Given the description of an element on the screen output the (x, y) to click on. 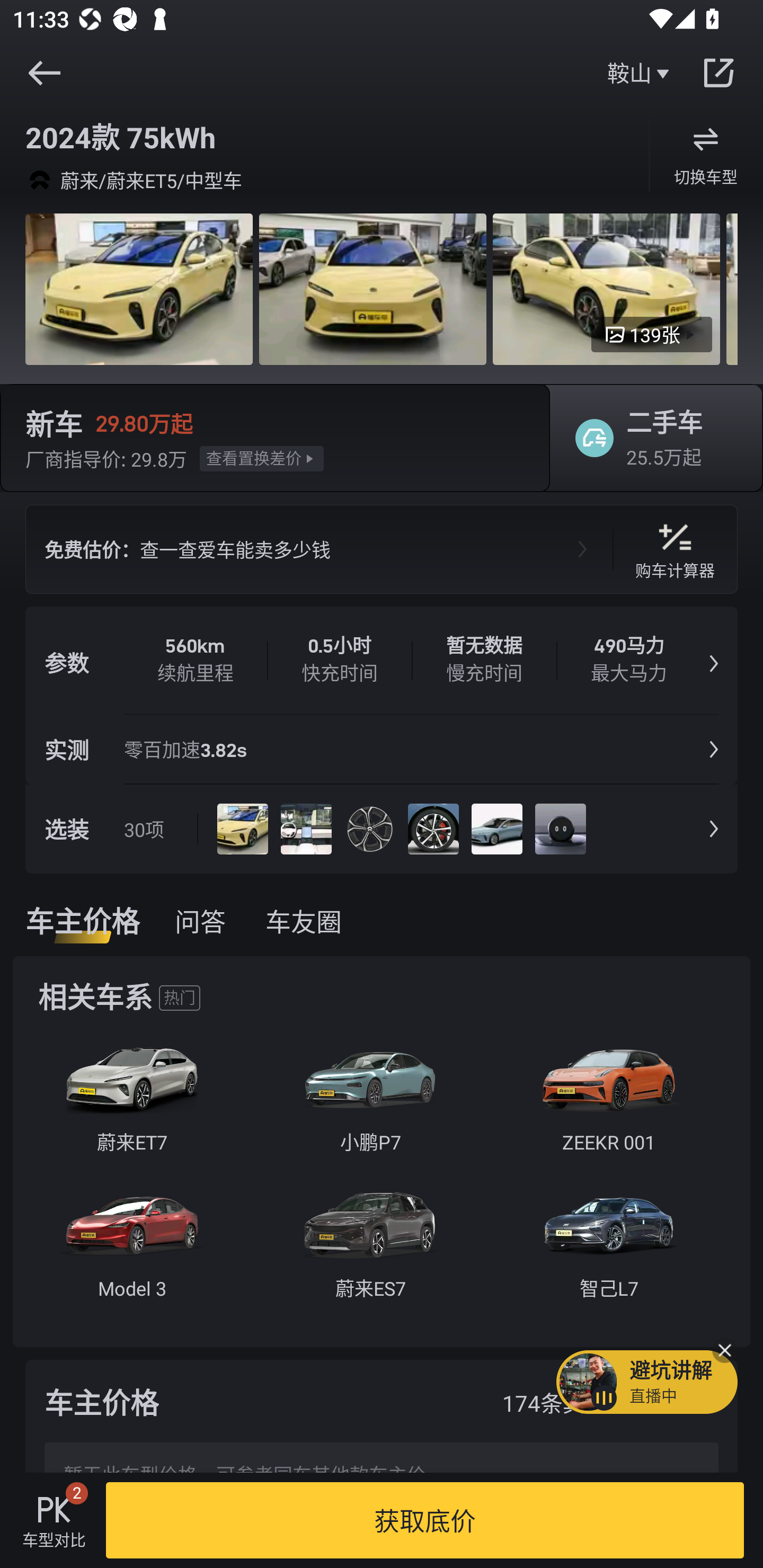
 (44, 72)
 (718, 72)
鞍山 (640, 73)
139张 (651, 334)
二手车 25.5万起 (650, 438)
查看置换差价  (261, 458)
免费估价： 查一查爱车能卖多少钱 (318, 549)
参数 560km 续航里程 0.5小时 快充时间 暂无数据 慢充时间 490马力 最大马力 (381, 660)
实测 零百加速3.82s (381, 749)
零百加速3.82s (191, 749)
选装 30项 (381, 828)
问答 (199, 920)
车友圈 (308, 920)
蔚来ET7 (131, 1103)
小鹏P7 (370, 1103)
ZEEKR 001 (608, 1103)
Model 3 (131, 1250)
蔚来ES7 (370, 1250)
智己L7 (608, 1250)
避坑讲解 直播中 (646, 1382)
车主价格 174条其他款车主价 (381, 1400)
车型对比 (53, 1520)
获取底价 (424, 1519)
